Given the description of an element on the screen output the (x, y) to click on. 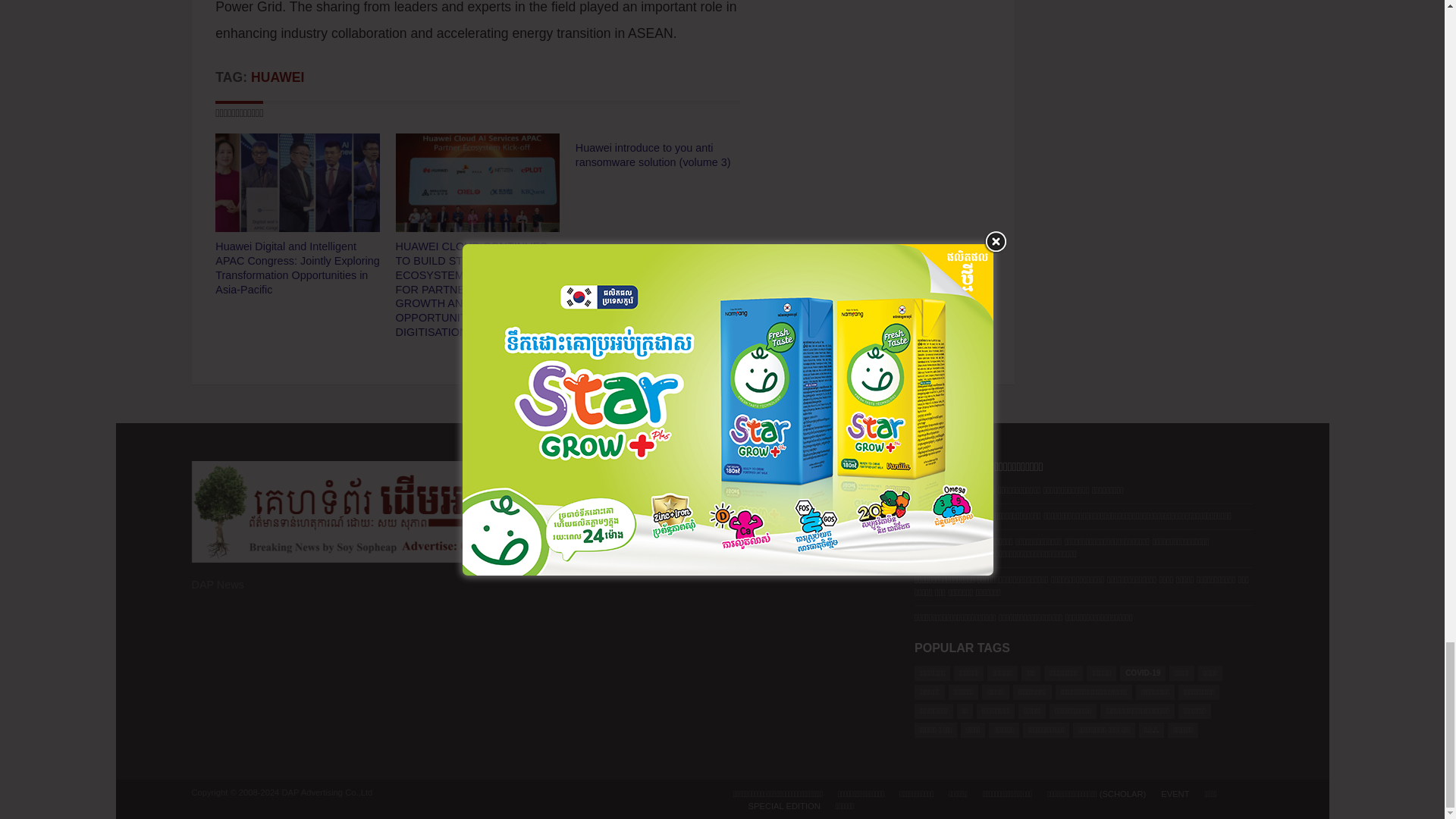
YouTube video player (722, 603)
